Given the description of an element on the screen output the (x, y) to click on. 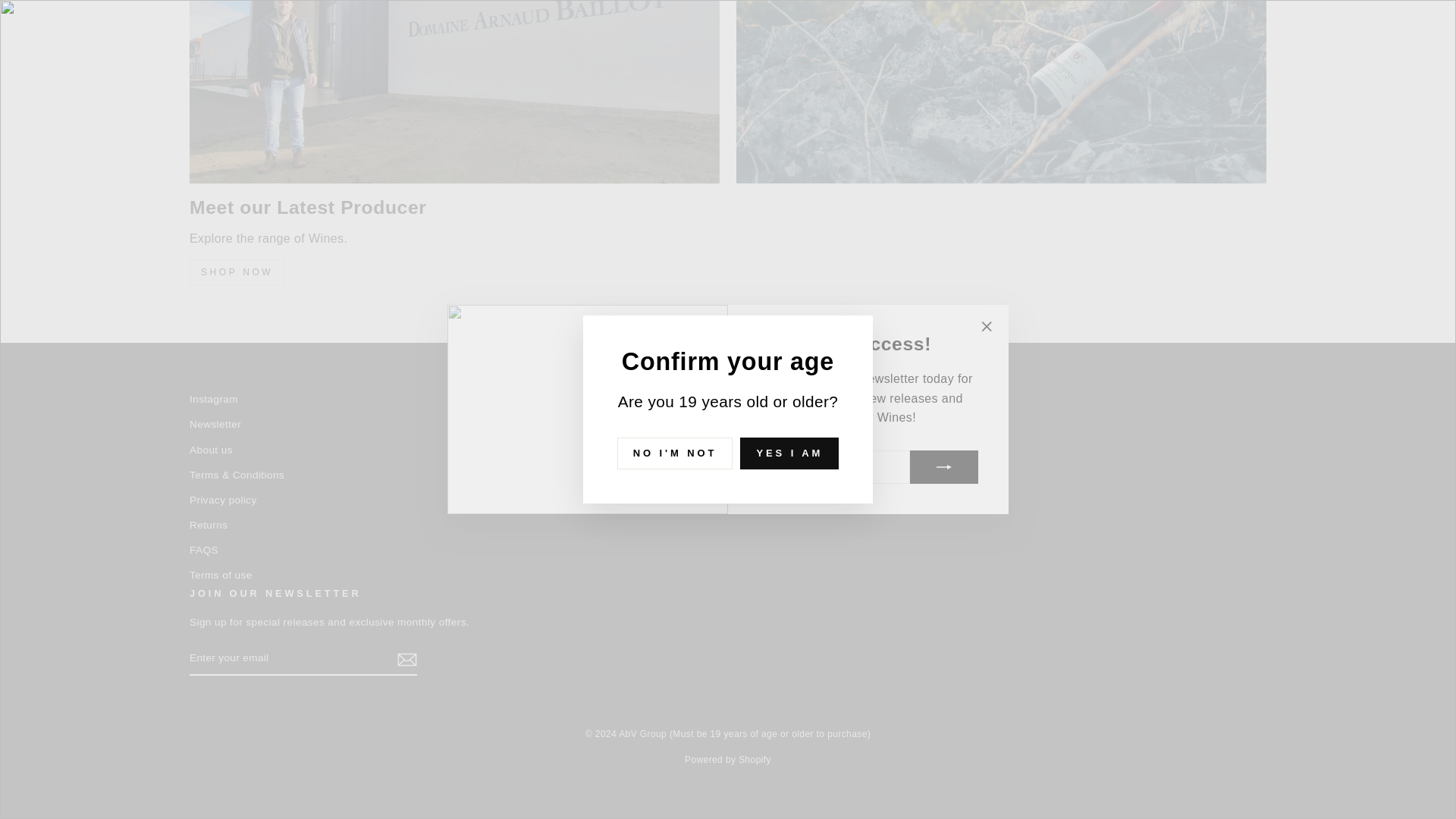
icon-email (406, 659)
